Given the description of an element on the screen output the (x, y) to click on. 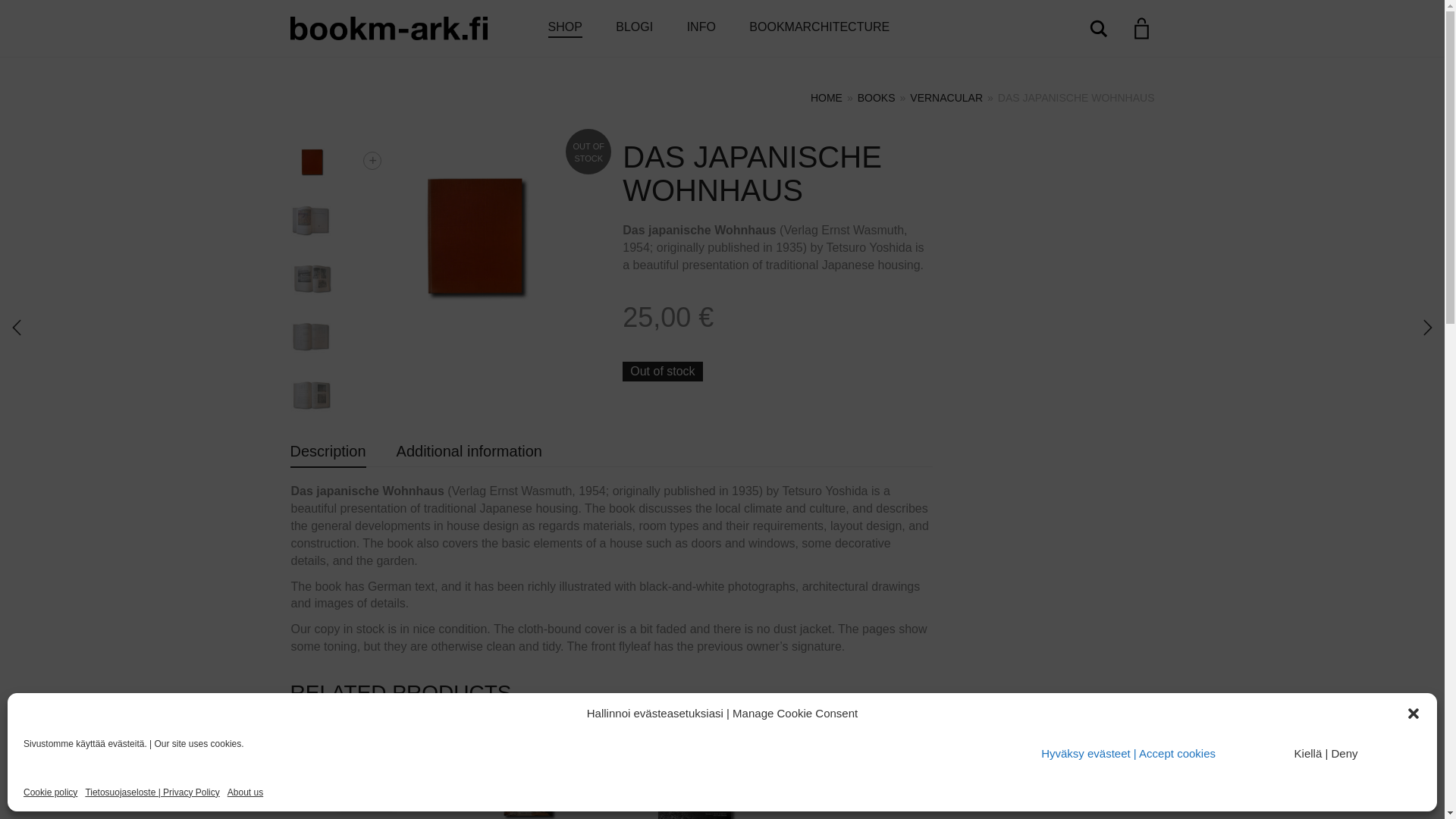
BLOGI (633, 28)
Yoshida-Das-japanische-Wohnhaus-kansi (312, 161)
Yoshida-Das-japanische-Wohnhaus-auk4 (312, 395)
View full size (371, 160)
Yoshida-Das-japanische-Wohnhaus-auk1 (312, 219)
Yoshida-Das-japanische-Wohnhaus-kansi (475, 235)
Search (1097, 28)
INFO (700, 28)
About us (245, 792)
Cookie policy (50, 792)
